Given the description of an element on the screen output the (x, y) to click on. 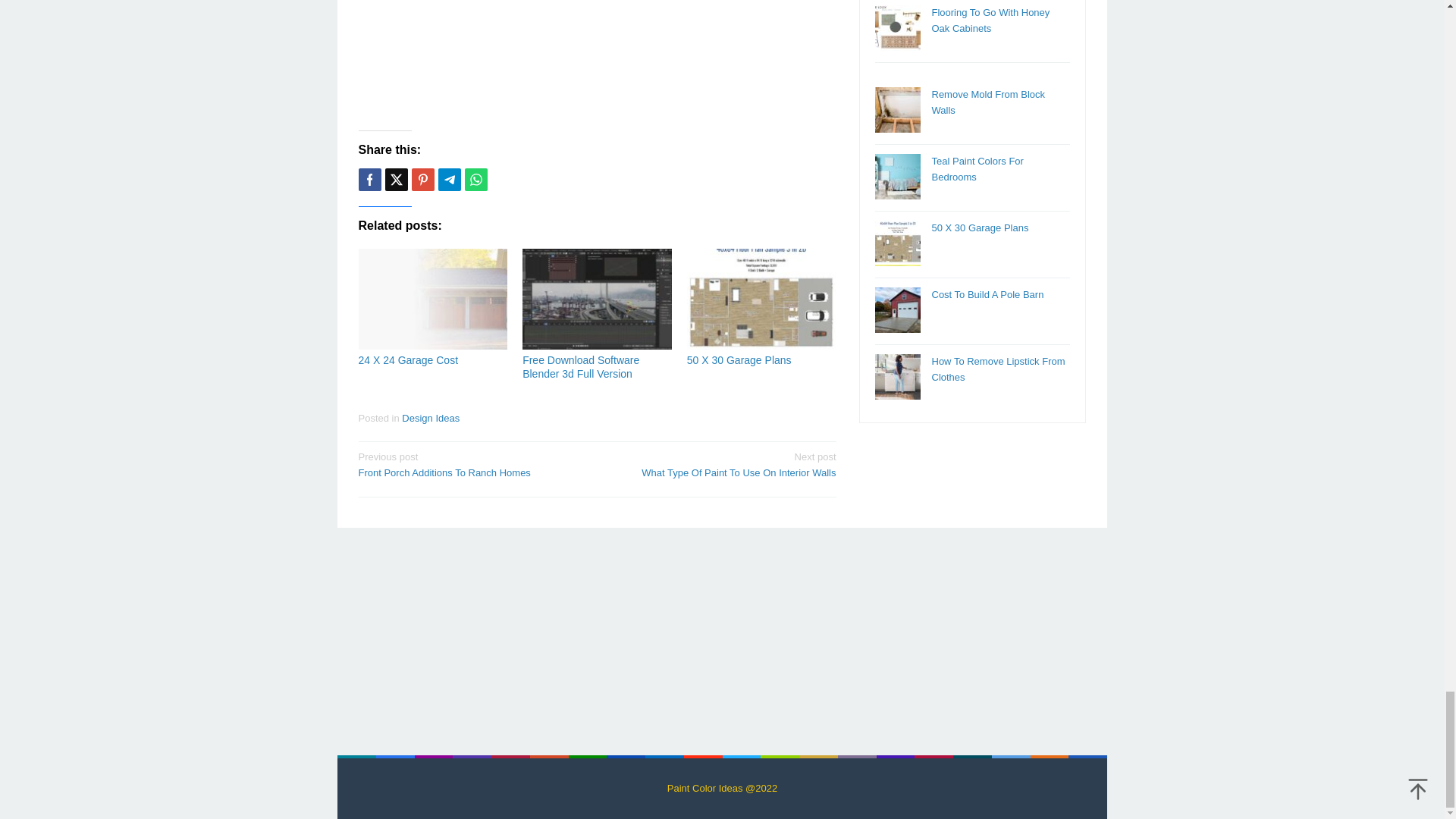
Pin this (421, 179)
Free Download Software Blender 3d Full Version (580, 366)
Tweet this (396, 179)
24 X 24 Garage Cost (408, 359)
Share this (472, 463)
50 X 30 Garage Plans (369, 179)
Design Ideas (739, 359)
